Given the description of an element on the screen output the (x, y) to click on. 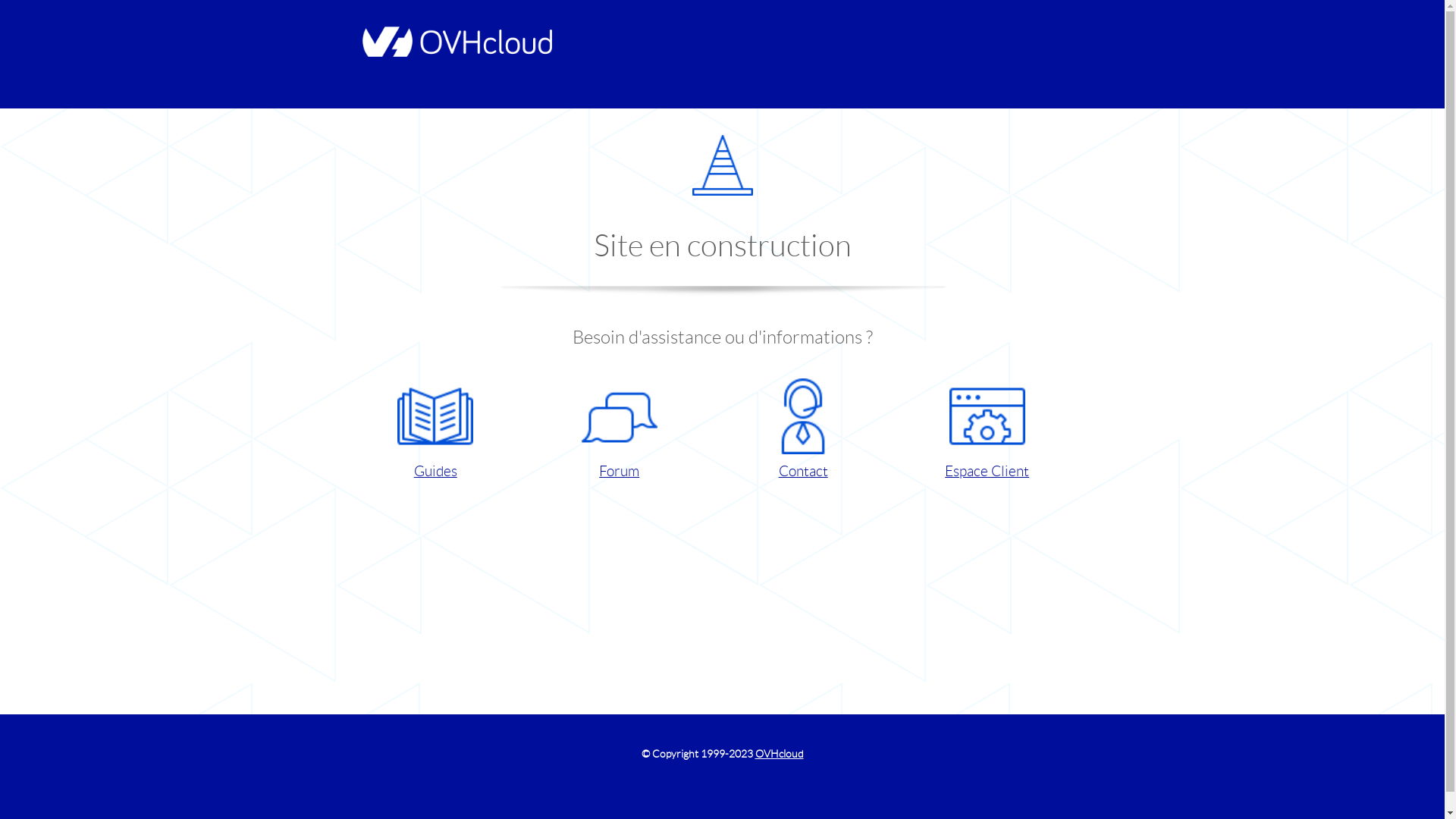
Contact Element type: text (802, 430)
Guides Element type: text (435, 430)
OVHcloud Element type: text (779, 753)
Espace Client Element type: text (986, 430)
Forum Element type: text (618, 430)
